Given the description of an element on the screen output the (x, y) to click on. 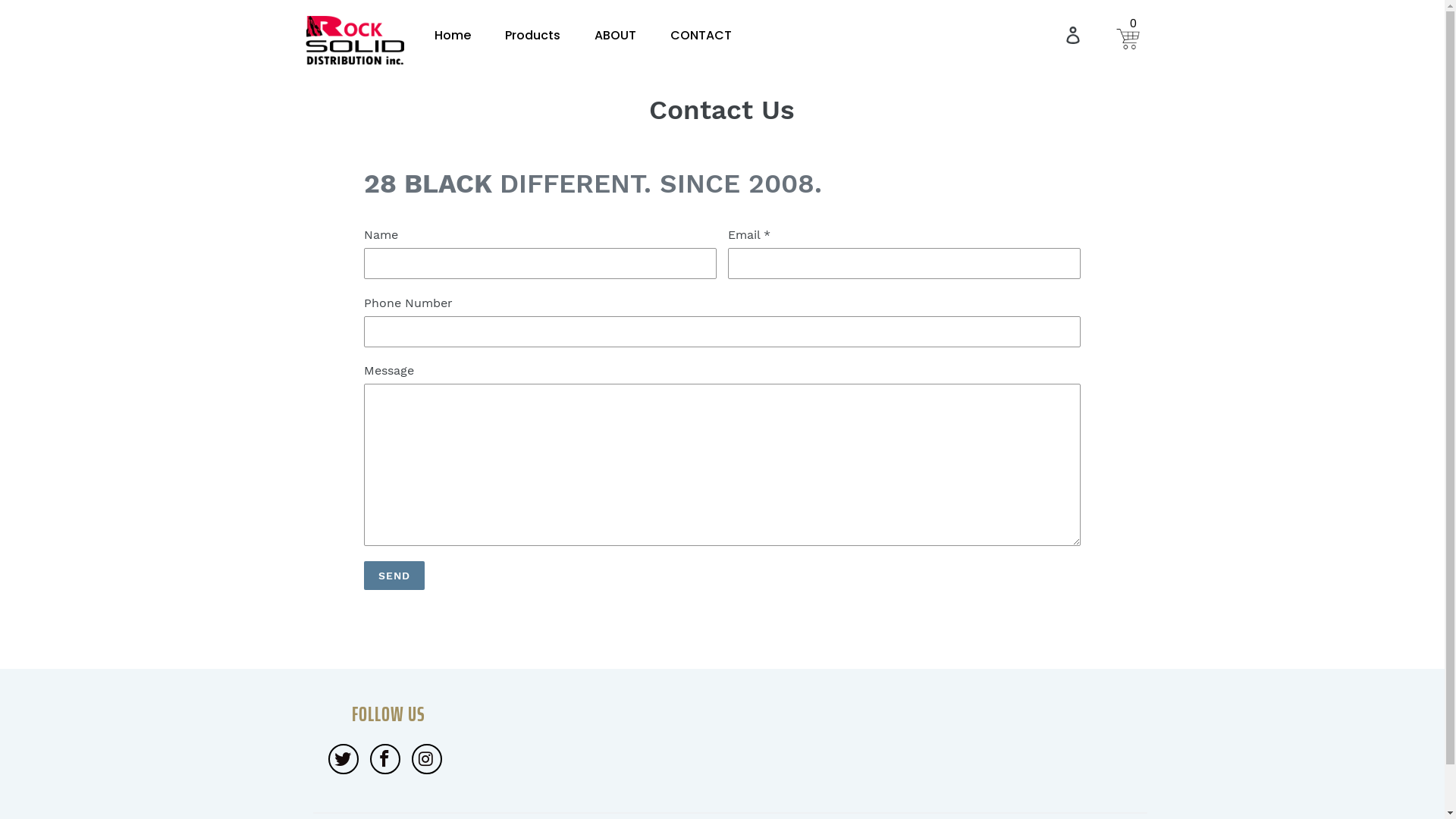
Products Element type: text (532, 35)
Log in Element type: text (1073, 34)
0 Element type: text (1127, 34)
CONTACT Element type: text (700, 35)
Home Element type: text (451, 35)
Send Element type: text (394, 575)
ABOUT Element type: text (615, 35)
